Given the description of an element on the screen output the (x, y) to click on. 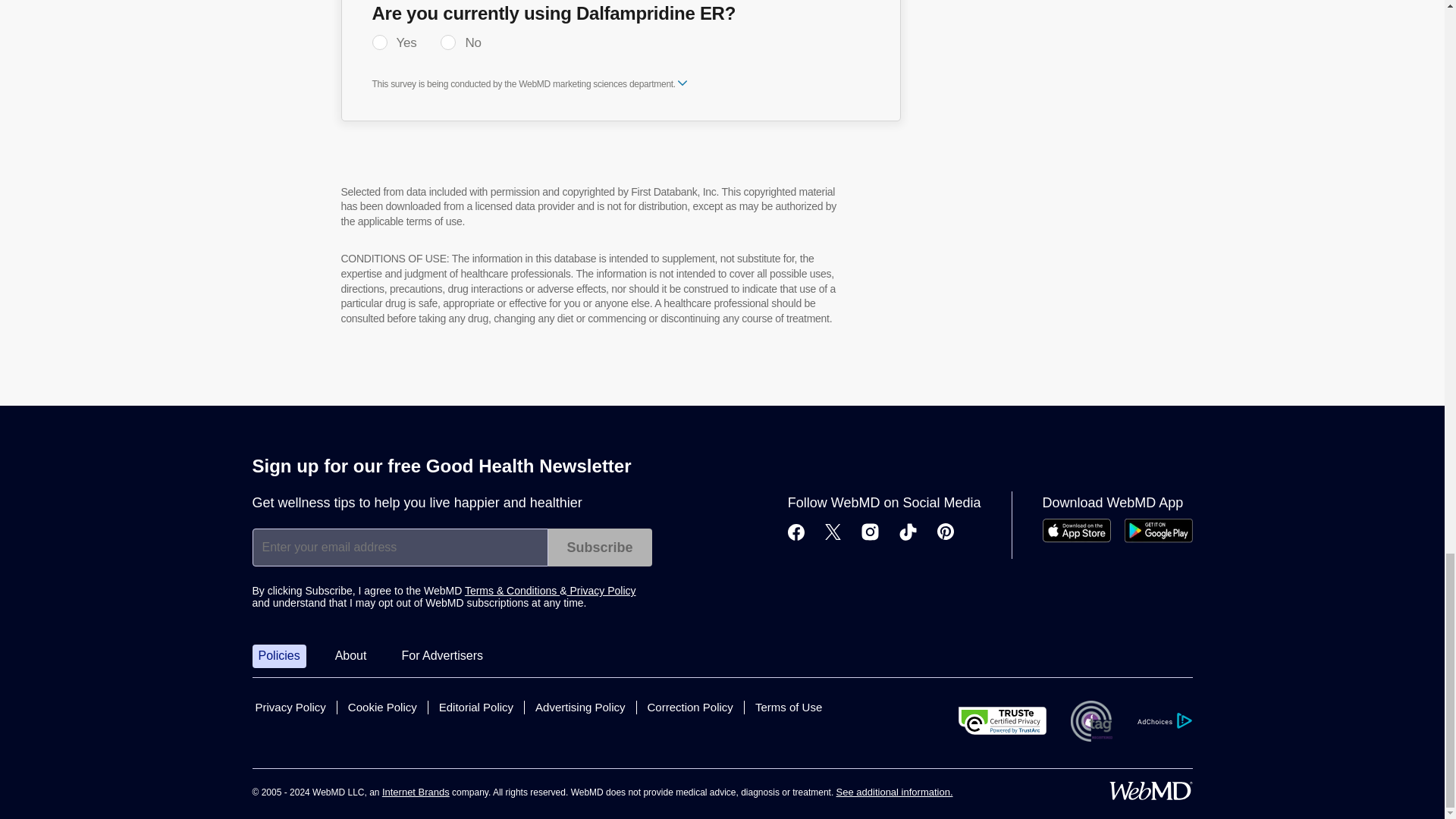
TAG Registered Seal (1091, 721)
Adchoices (1163, 720)
WebMD: Better information. Better health. (1150, 790)
TRUSTe Privacy Certification (1002, 720)
